Given the description of an element on the screen output the (x, y) to click on. 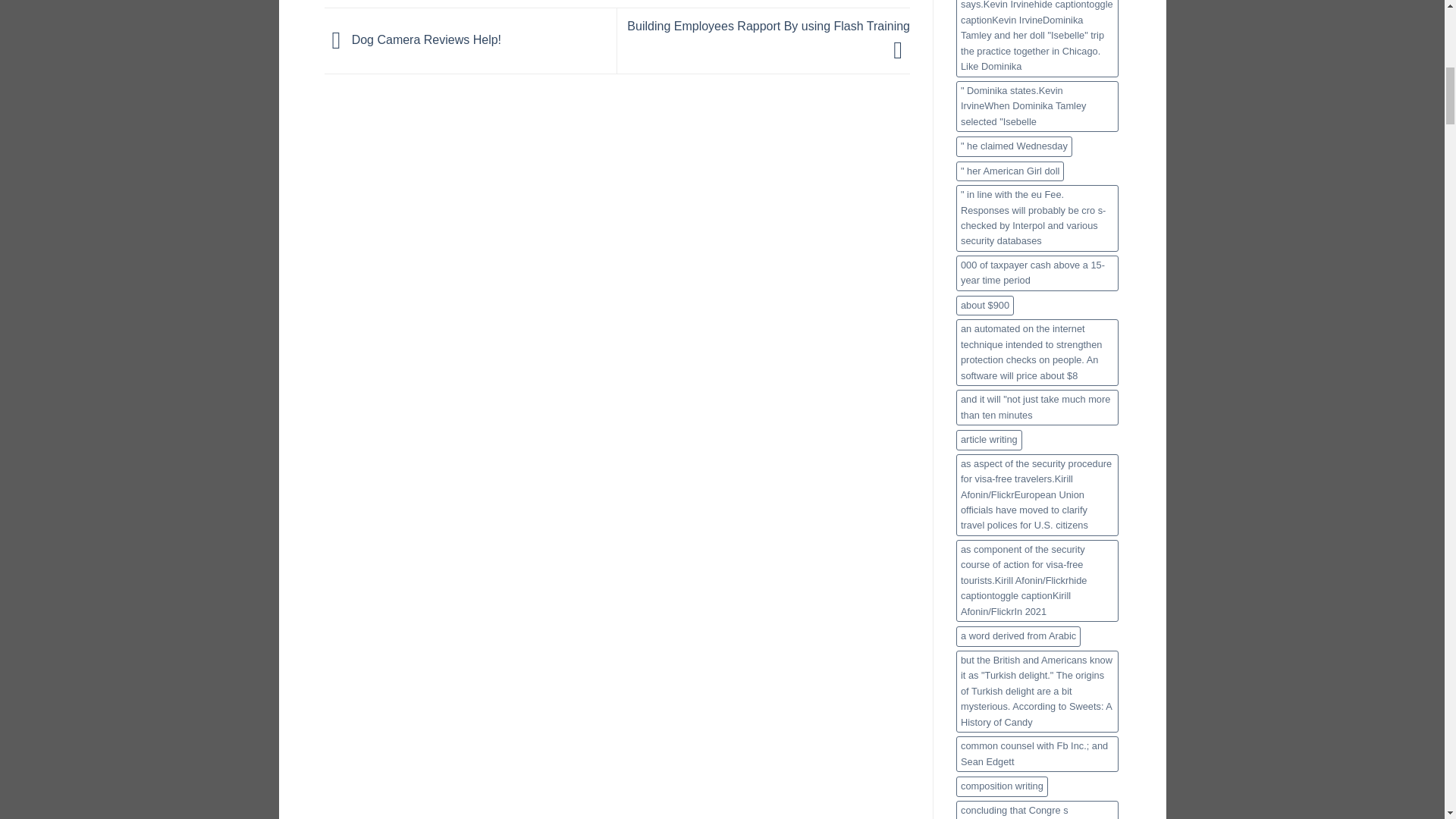
Dog Camera Reviews Help! (413, 39)
